Given the description of an element on the screen output the (x, y) to click on. 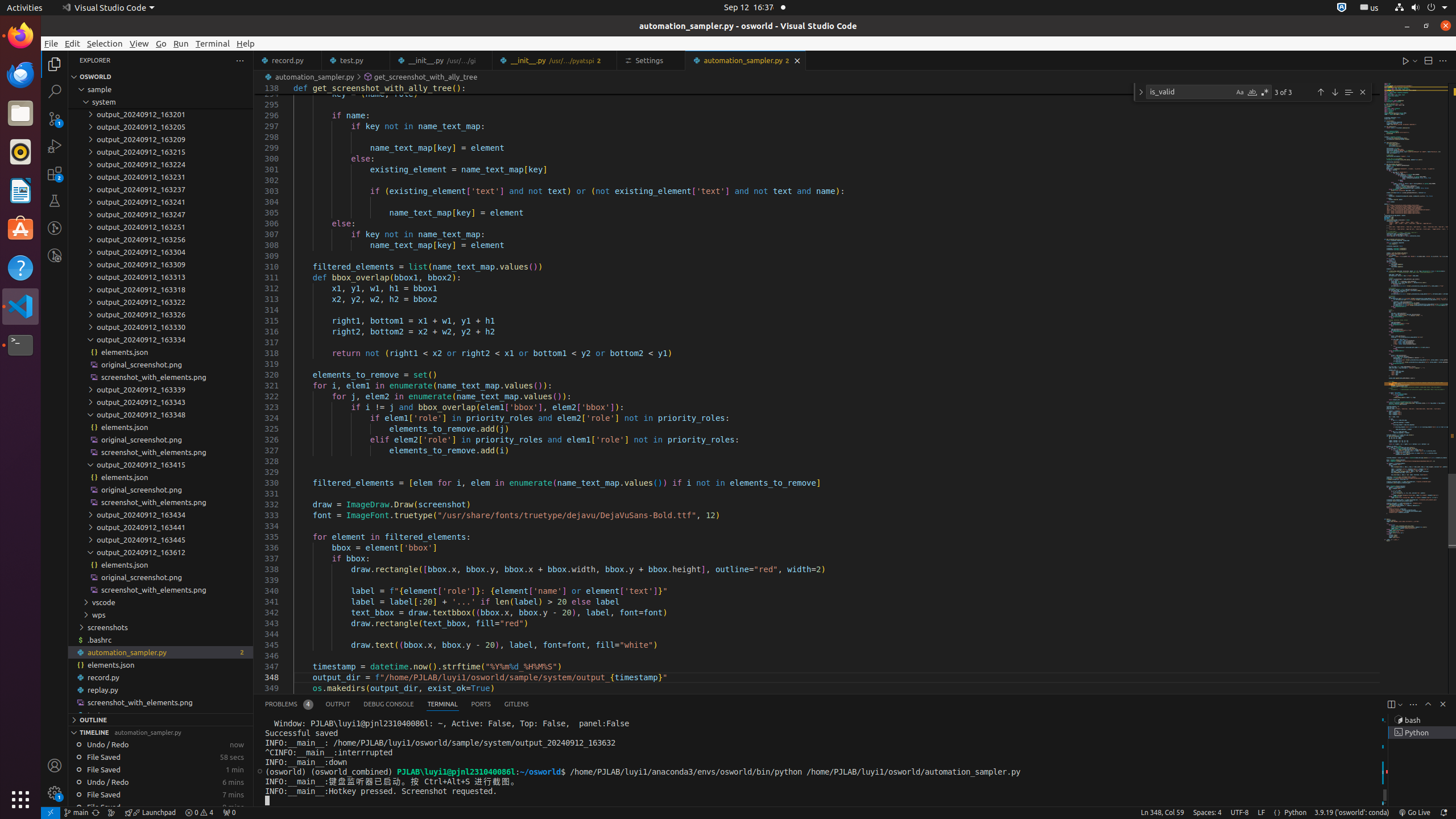
Close (Ctrl+W) Element type: push-button (797, 60)
Terminal (Ctrl+`) Element type: page-tab (442, 704)
system Element type: tree-item (160, 101)
output_20240912_163348 Element type: tree-item (160, 414)
